Given the description of an element on the screen output the (x, y) to click on. 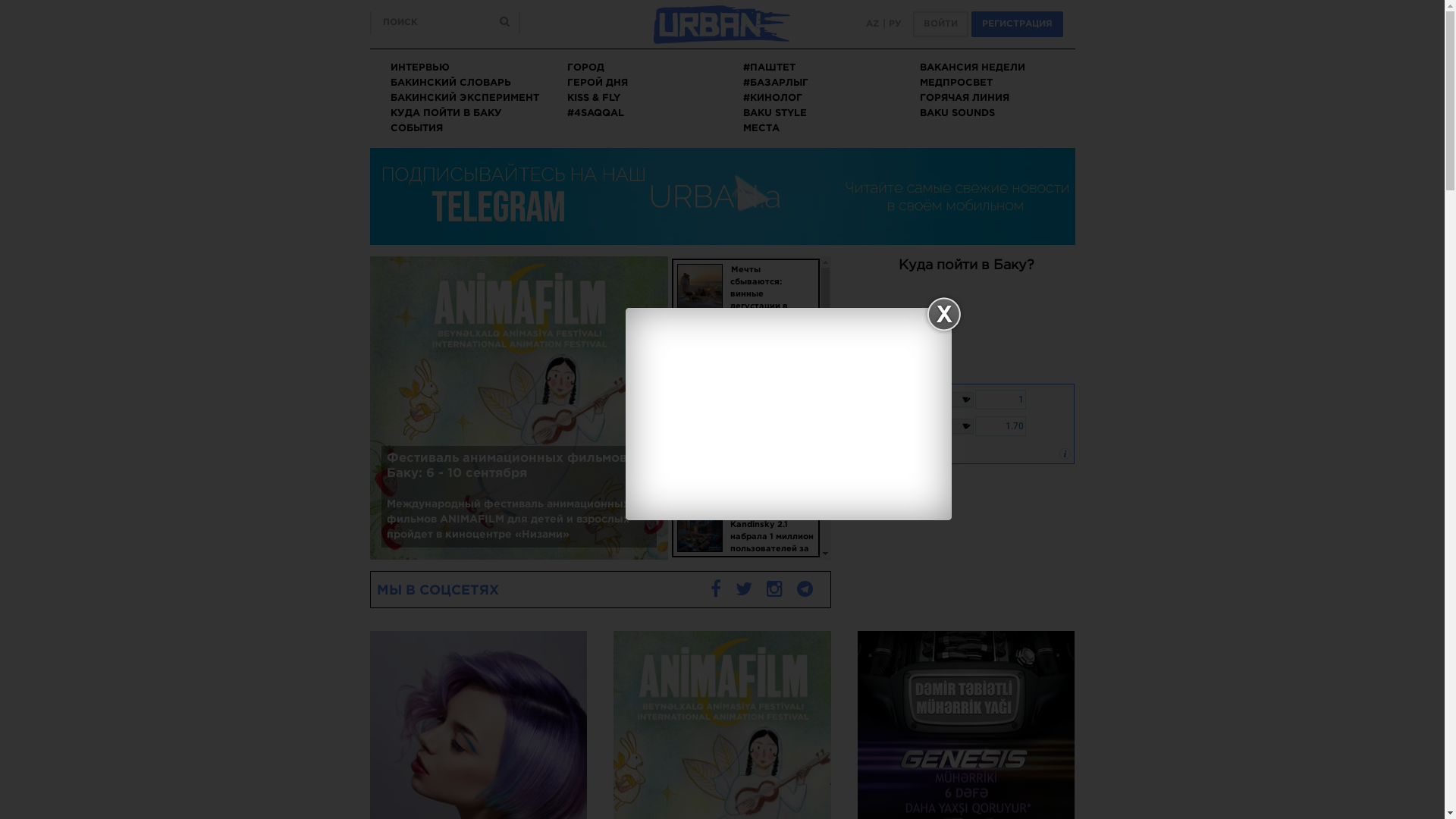
#4SAQQAL Element type: text (595, 113)
BAKU SOUNDS Element type: text (956, 113)
KISS & FLY Element type: text (593, 98)
i Element type: text (1064, 454)
BAKU STYLE Element type: text (774, 113)
AZ Element type: text (872, 23)
